Given the description of an element on the screen output the (x, y) to click on. 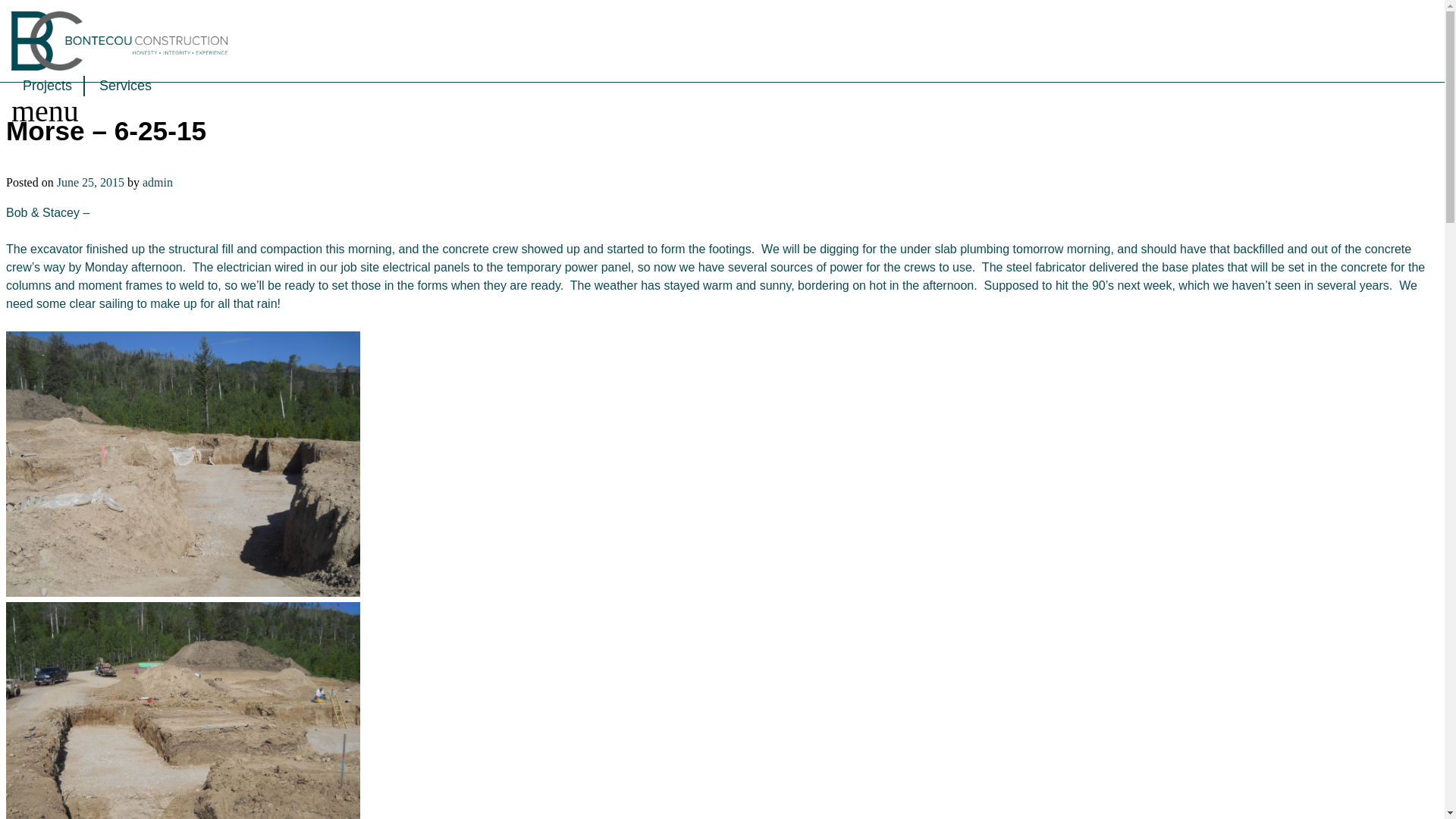
Projects (46, 86)
admin (157, 182)
Services (125, 86)
June 25, 2015 (89, 182)
